Given the description of an element on the screen output the (x, y) to click on. 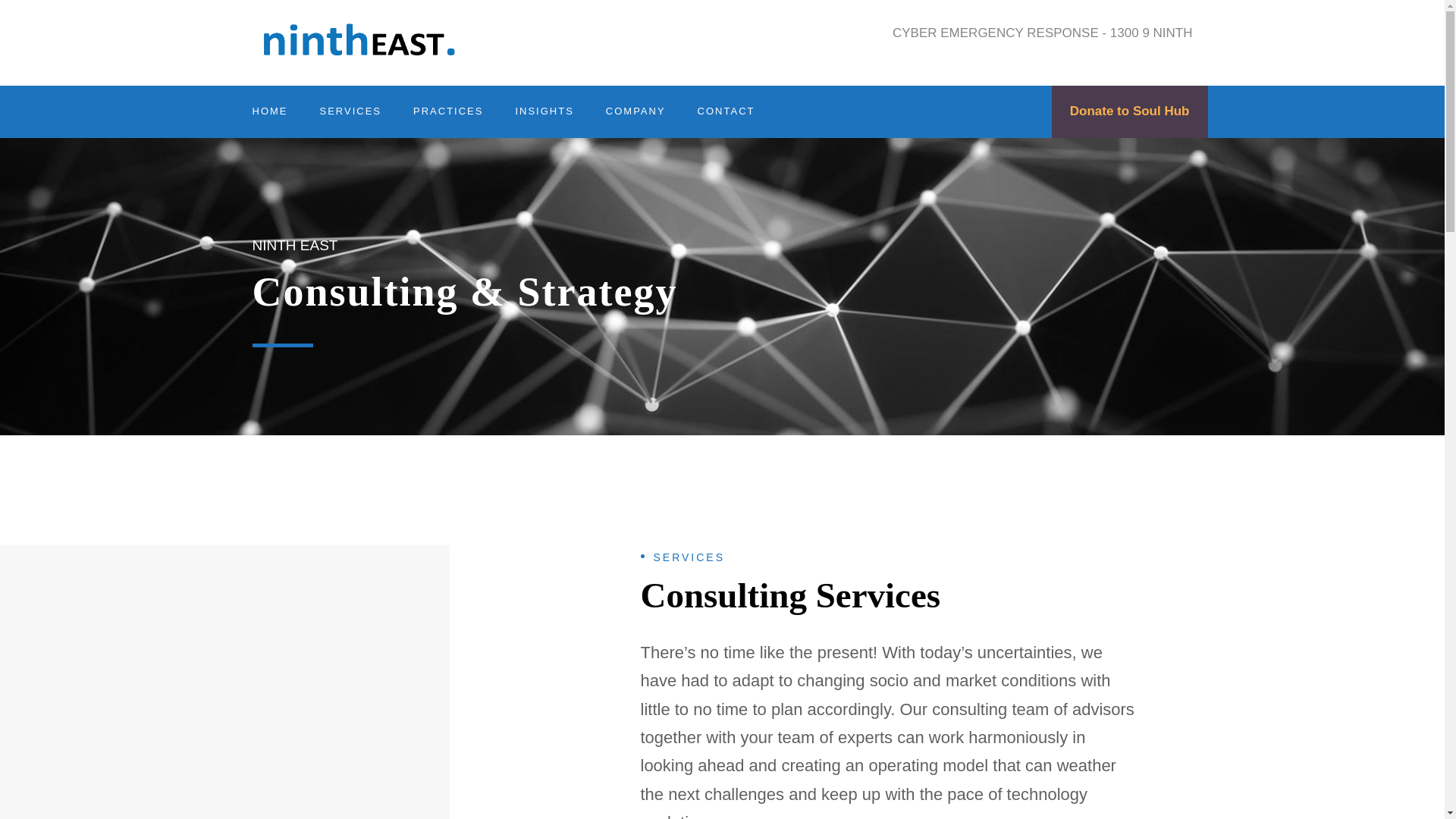
PRACTICES (448, 120)
SERVICES (350, 120)
HOME (268, 120)
COMPANY (635, 120)
INSIGHTS (544, 120)
